Given the description of an element on the screen output the (x, y) to click on. 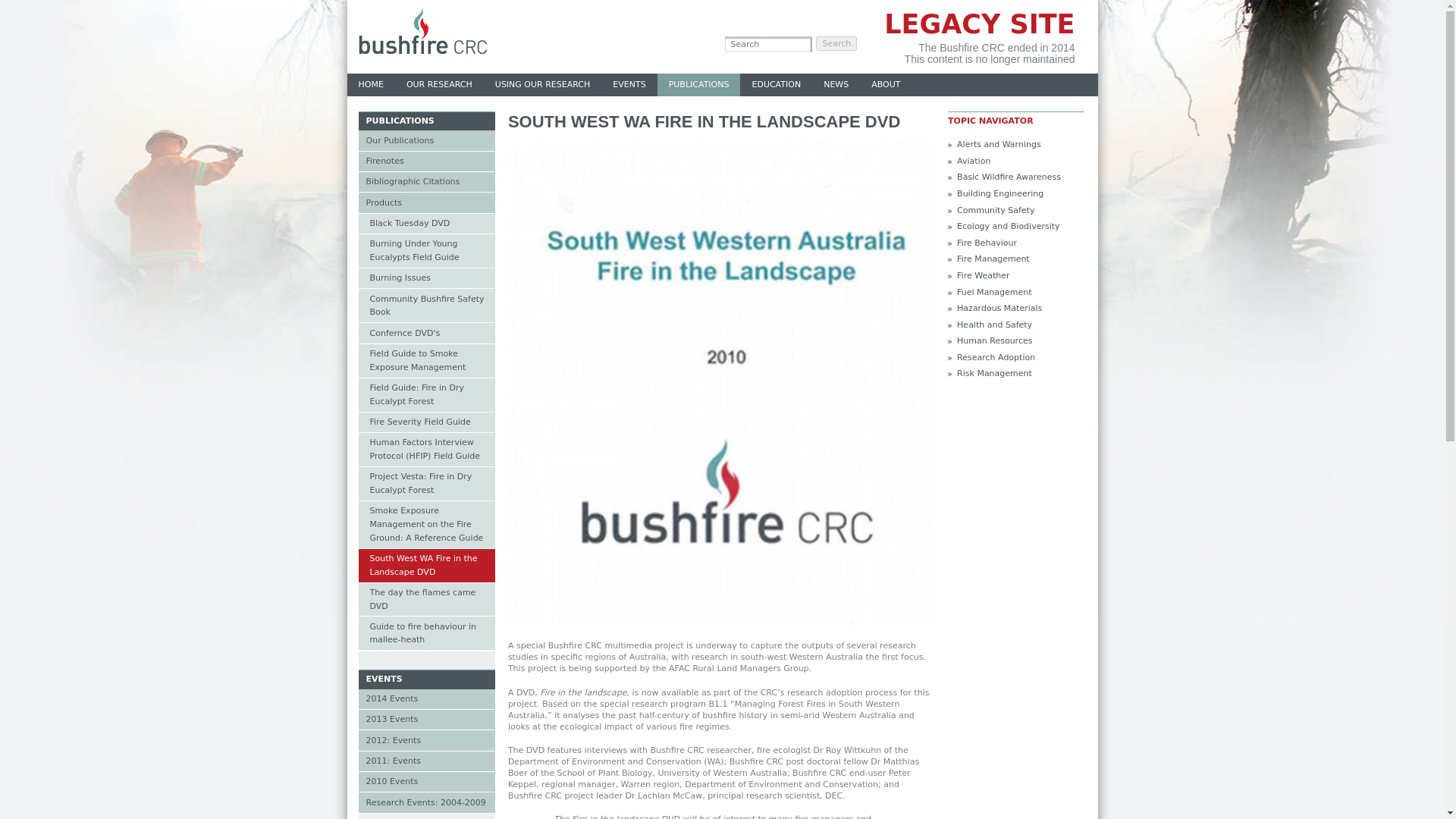
HOME (370, 84)
Home (422, 50)
Search (836, 43)
Search (836, 43)
OUR RESEARCH (438, 84)
